Given the description of an element on the screen output the (x, y) to click on. 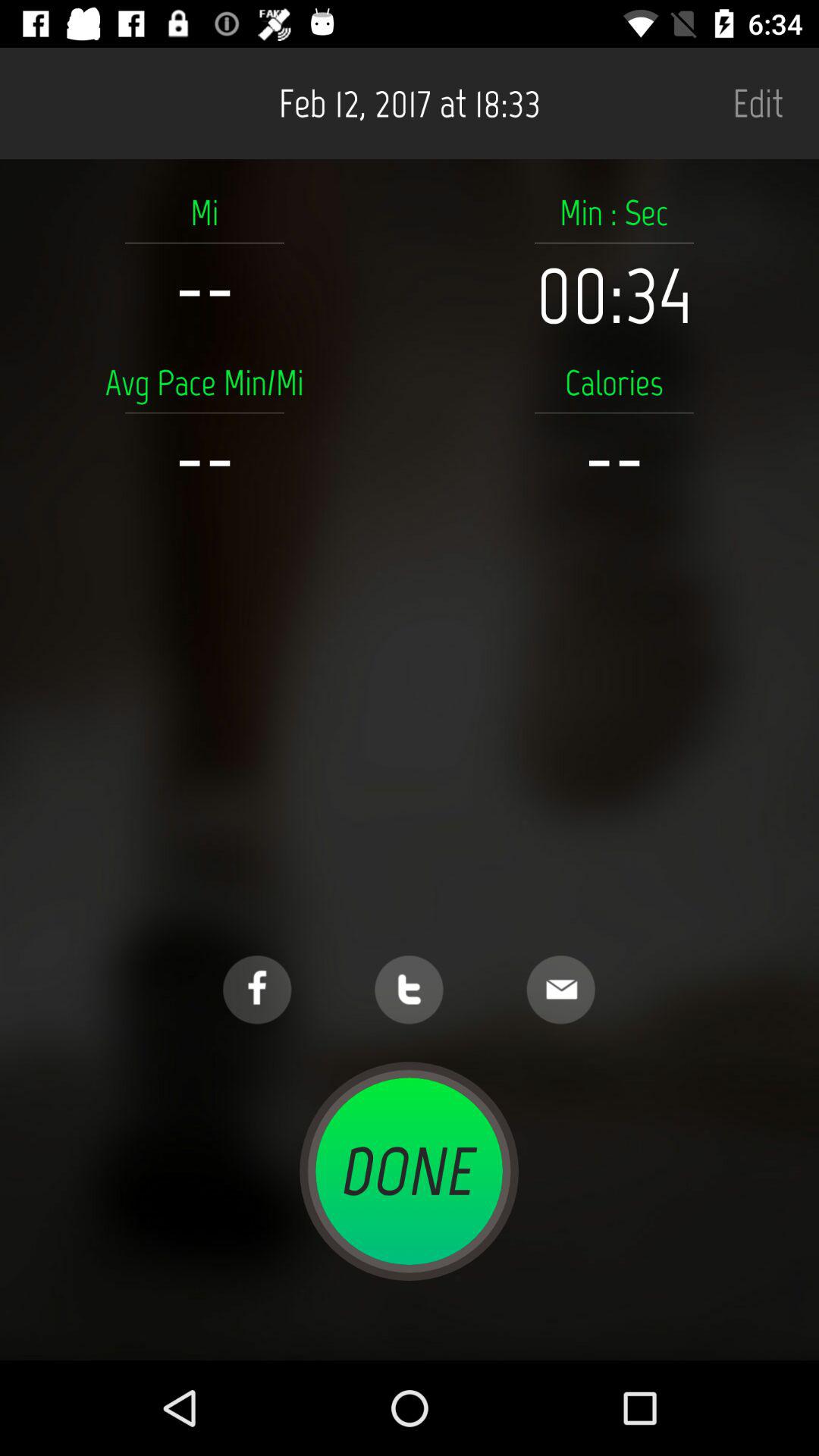
flip until the done item (408, 1170)
